Given the description of an element on the screen output the (x, y) to click on. 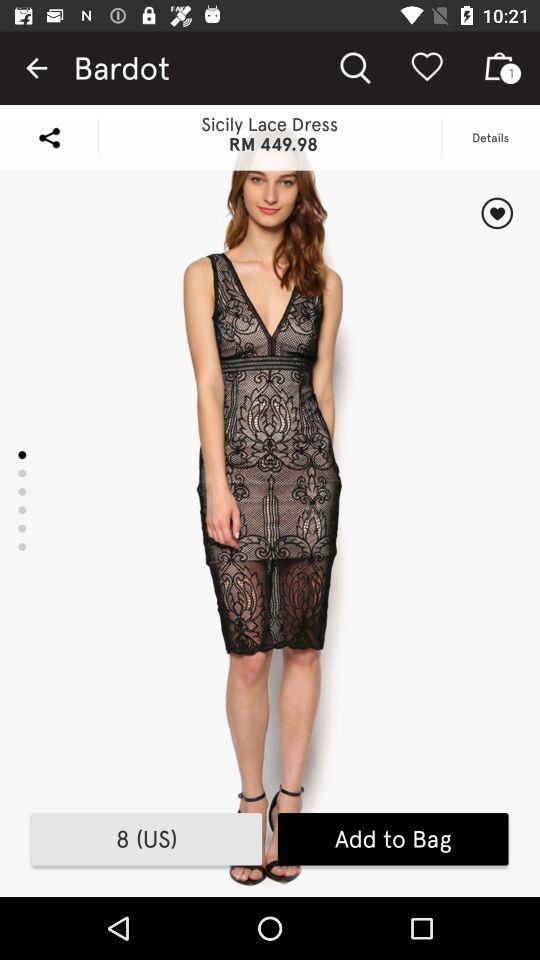
share the article (49, 137)
